Given the description of an element on the screen output the (x, y) to click on. 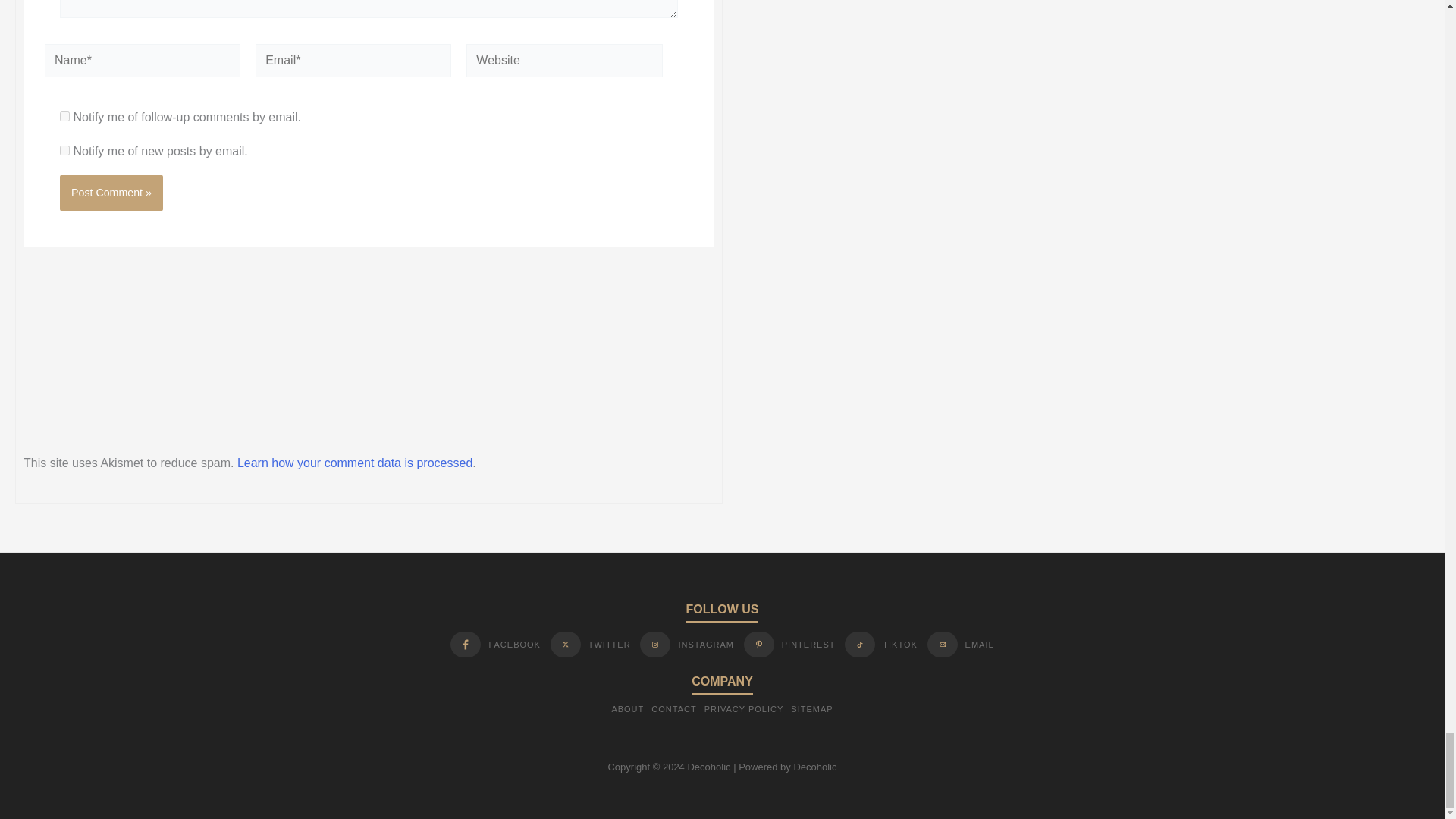
subscribe (64, 150)
subscribe (64, 116)
